Given the description of an element on the screen output the (x, y) to click on. 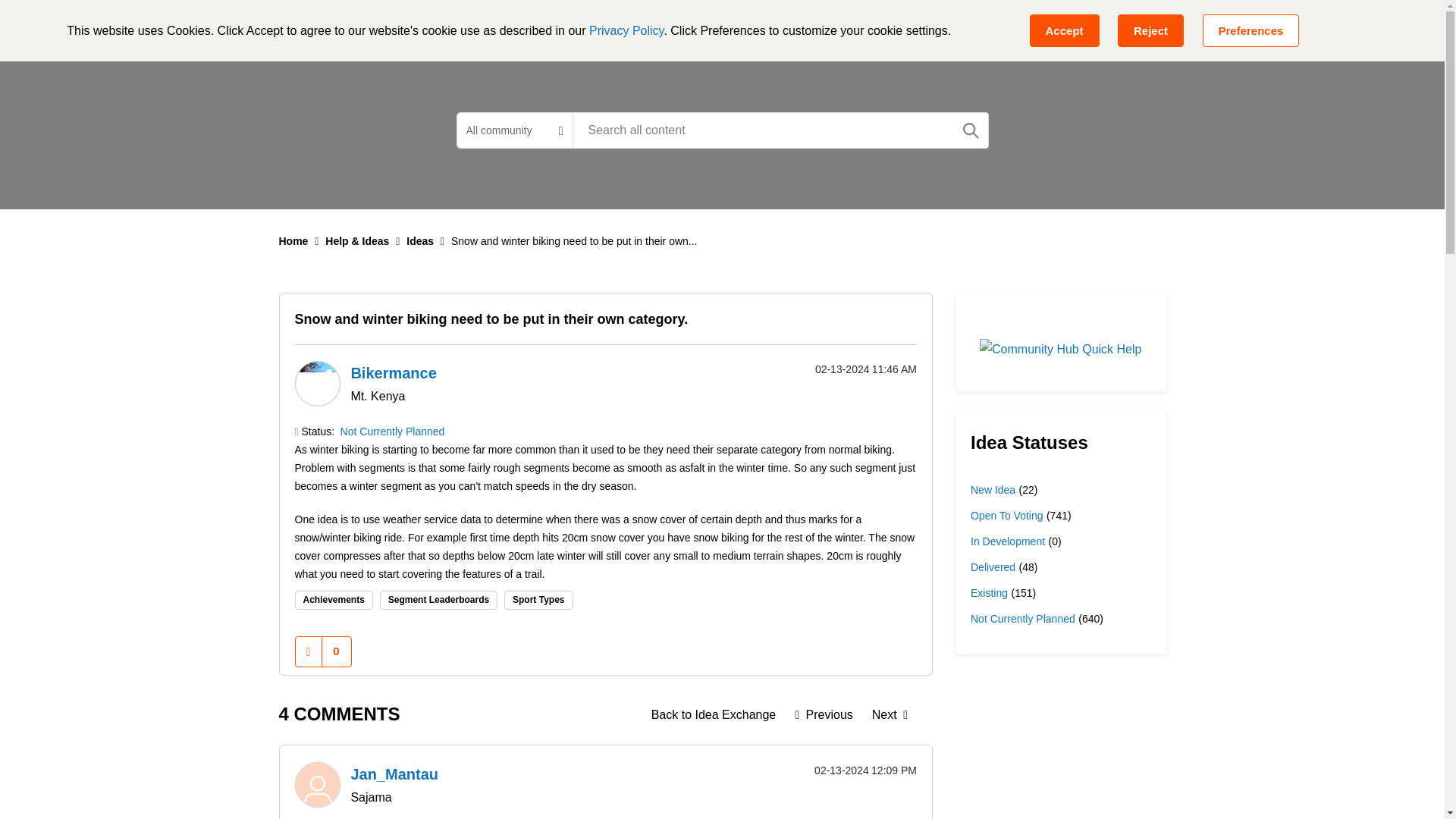
Ideas (714, 714)
Click here to vote up this idea. (307, 651)
Reject (1150, 30)
Strava Community Hub (363, 25)
Basecamp (497, 25)
Community members who liked and gave this post kudos (335, 650)
Search (970, 130)
Preferences (1251, 30)
Search (780, 130)
